Given the description of an element on the screen output the (x, y) to click on. 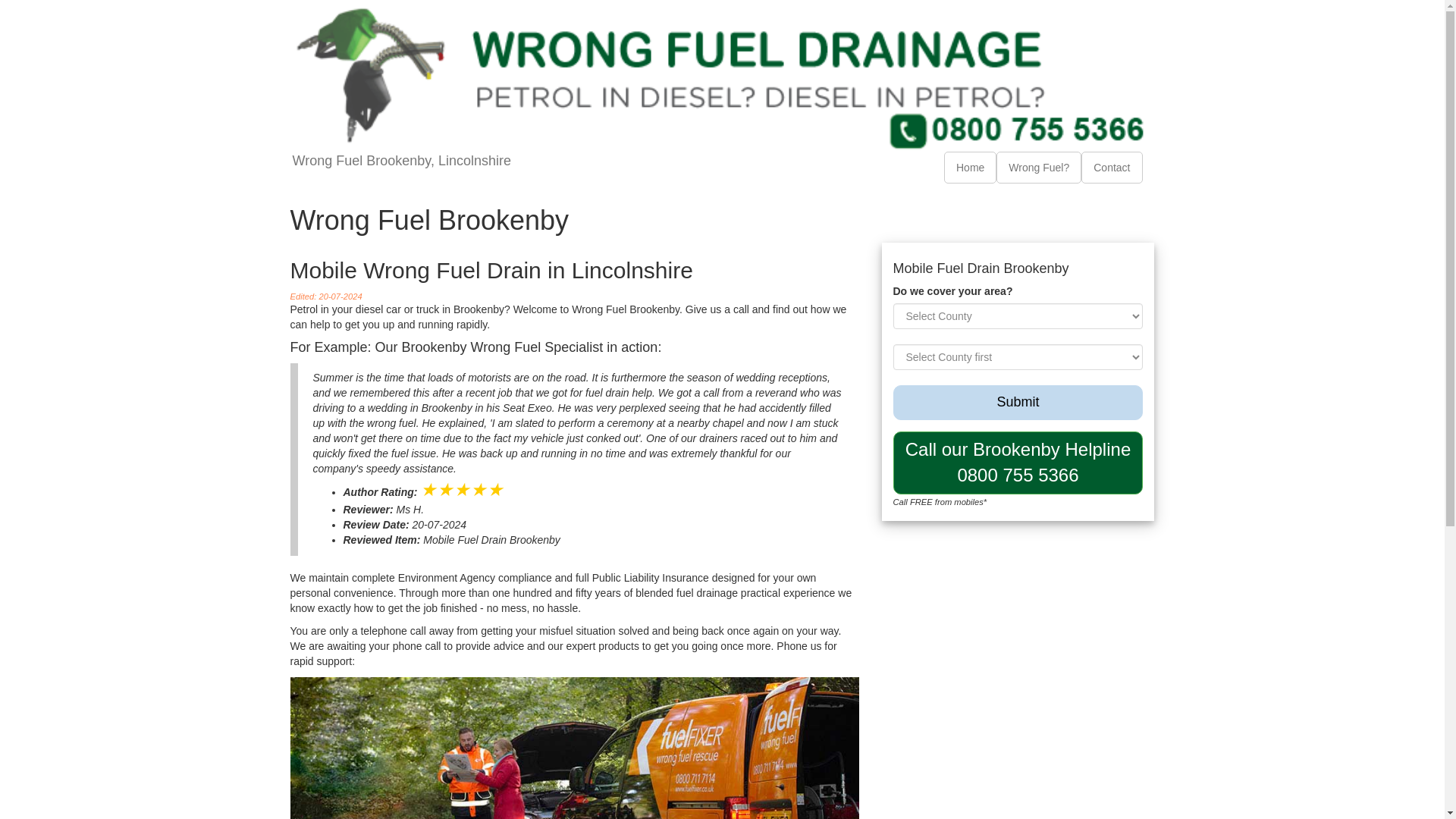
Contact (1111, 167)
Submit (1017, 402)
Wrong Fuel? (1017, 462)
Home (1038, 167)
Wrong Fuel Brookenby, Lincolnshire (969, 167)
